Given the description of an element on the screen output the (x, y) to click on. 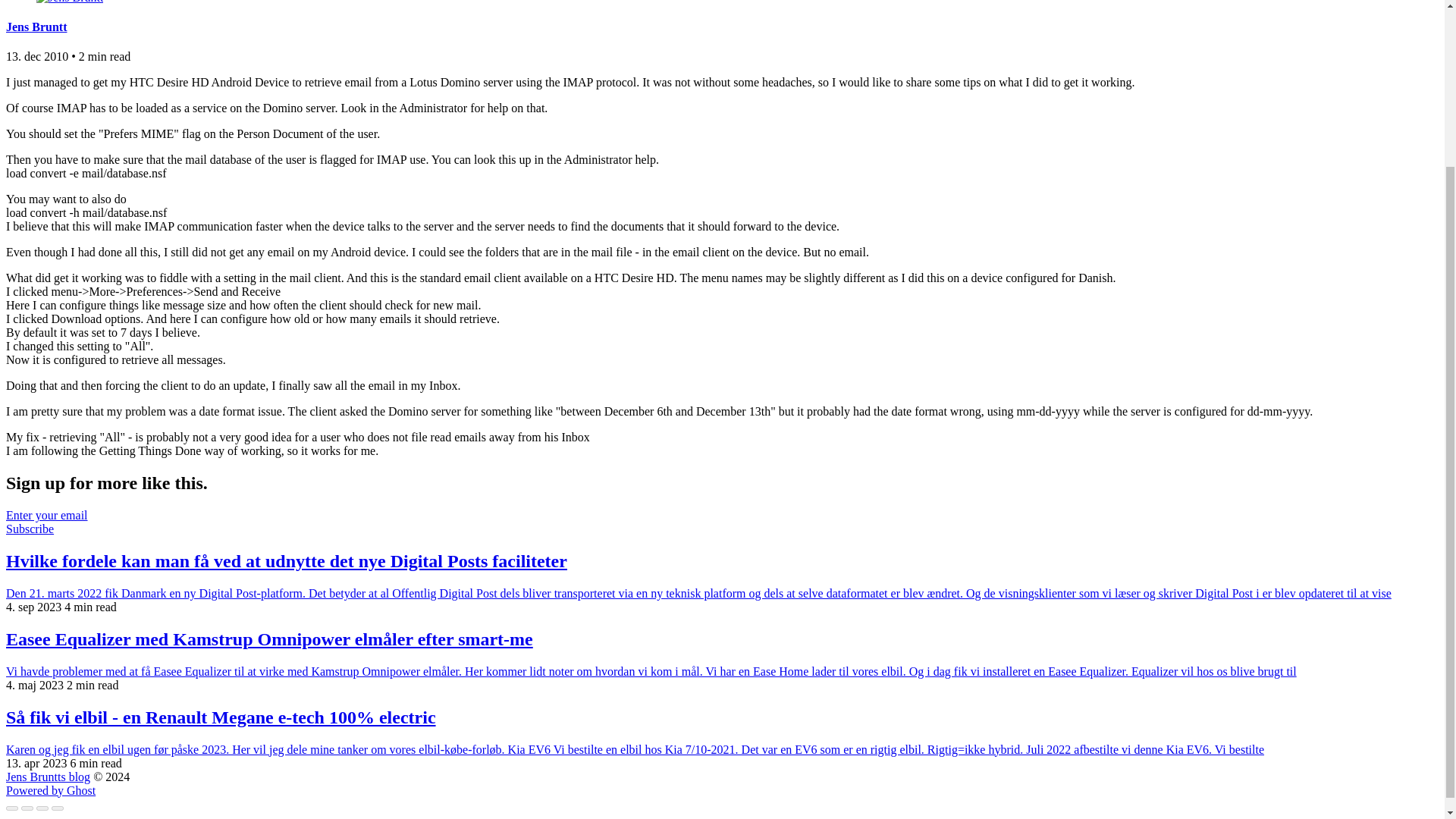
Toggle fullscreen (42, 807)
Jens Bruntt (35, 26)
Jens Bruntts blog (47, 776)
Share (27, 807)
Powered by Ghost (50, 789)
